Given the description of an element on the screen output the (x, y) to click on. 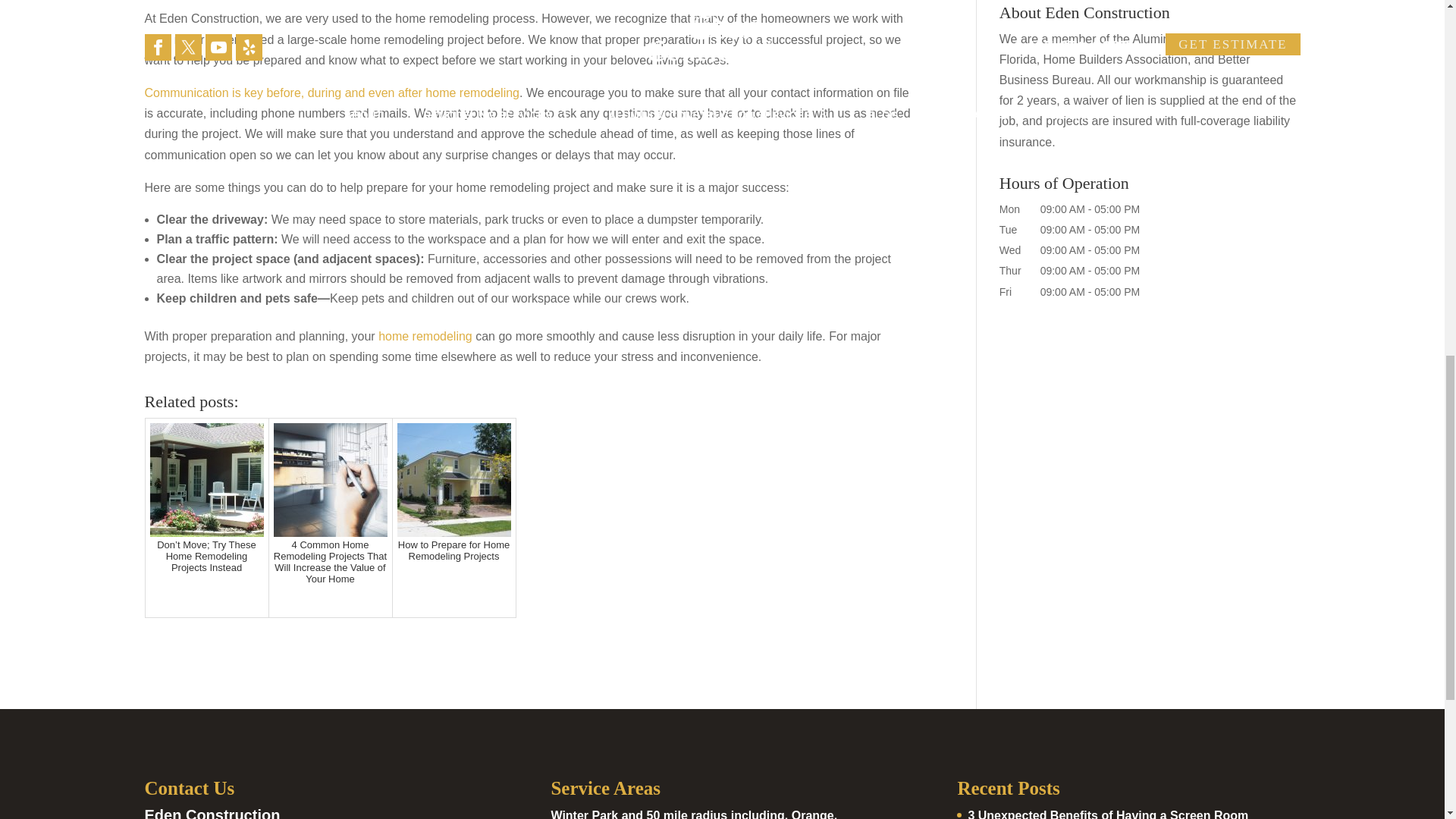
home remodeling (424, 336)
